Given the description of an element on the screen output the (x, y) to click on. 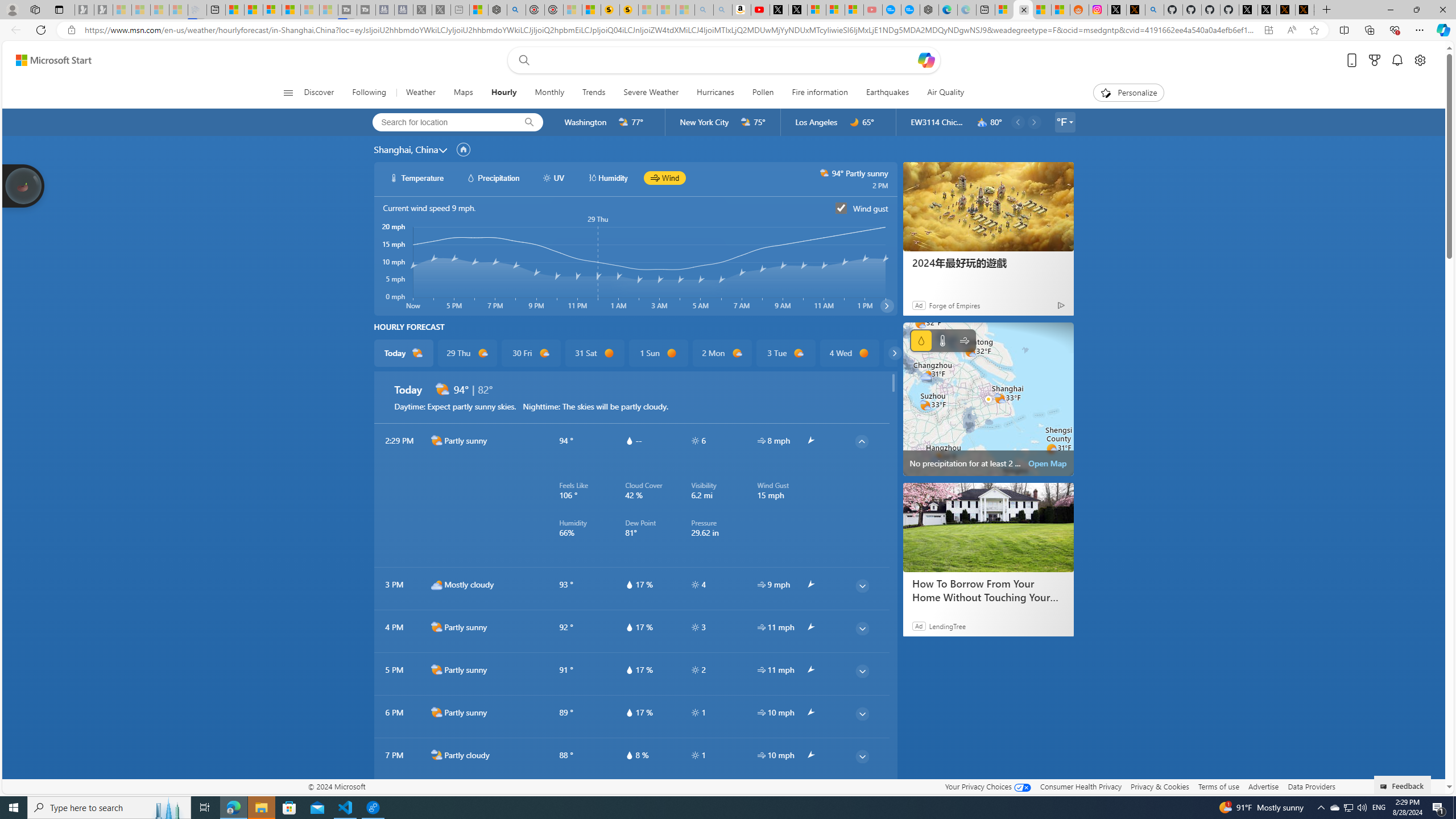
locationName/setHomeLocation (462, 149)
Hurricanes (715, 92)
github - Search (1154, 9)
Temperature (942, 340)
Class: feedback_link_icon-DS-EntryPoint1-1 (1384, 786)
n0000 (854, 121)
Privacy & Cookies (1160, 786)
1 Sun d0000 (658, 352)
common/carouselChevron (895, 353)
